Given the description of an element on the screen output the (x, y) to click on. 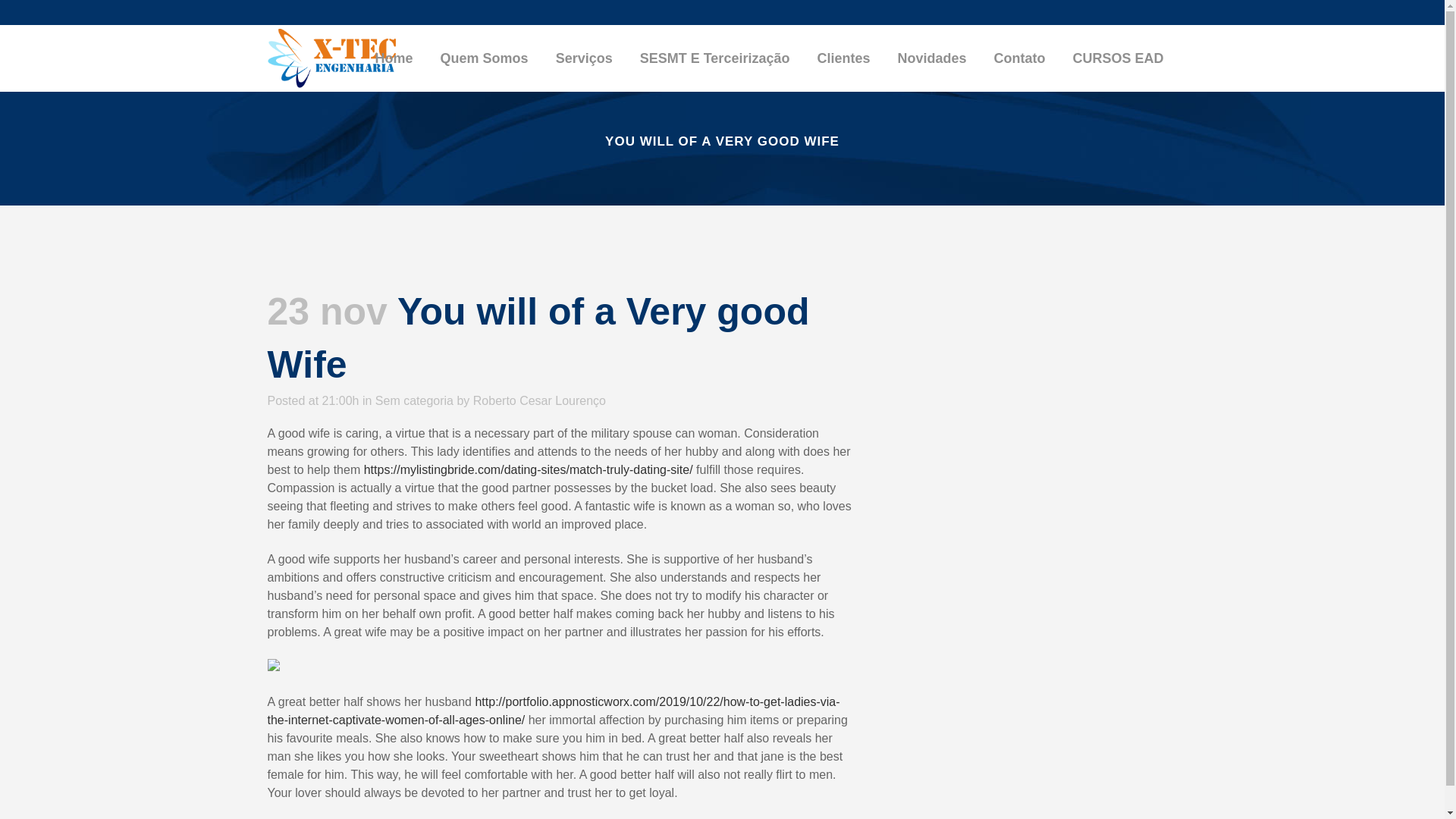
Quem Somos (483, 58)
Home (393, 58)
